Given the description of an element on the screen output the (x, y) to click on. 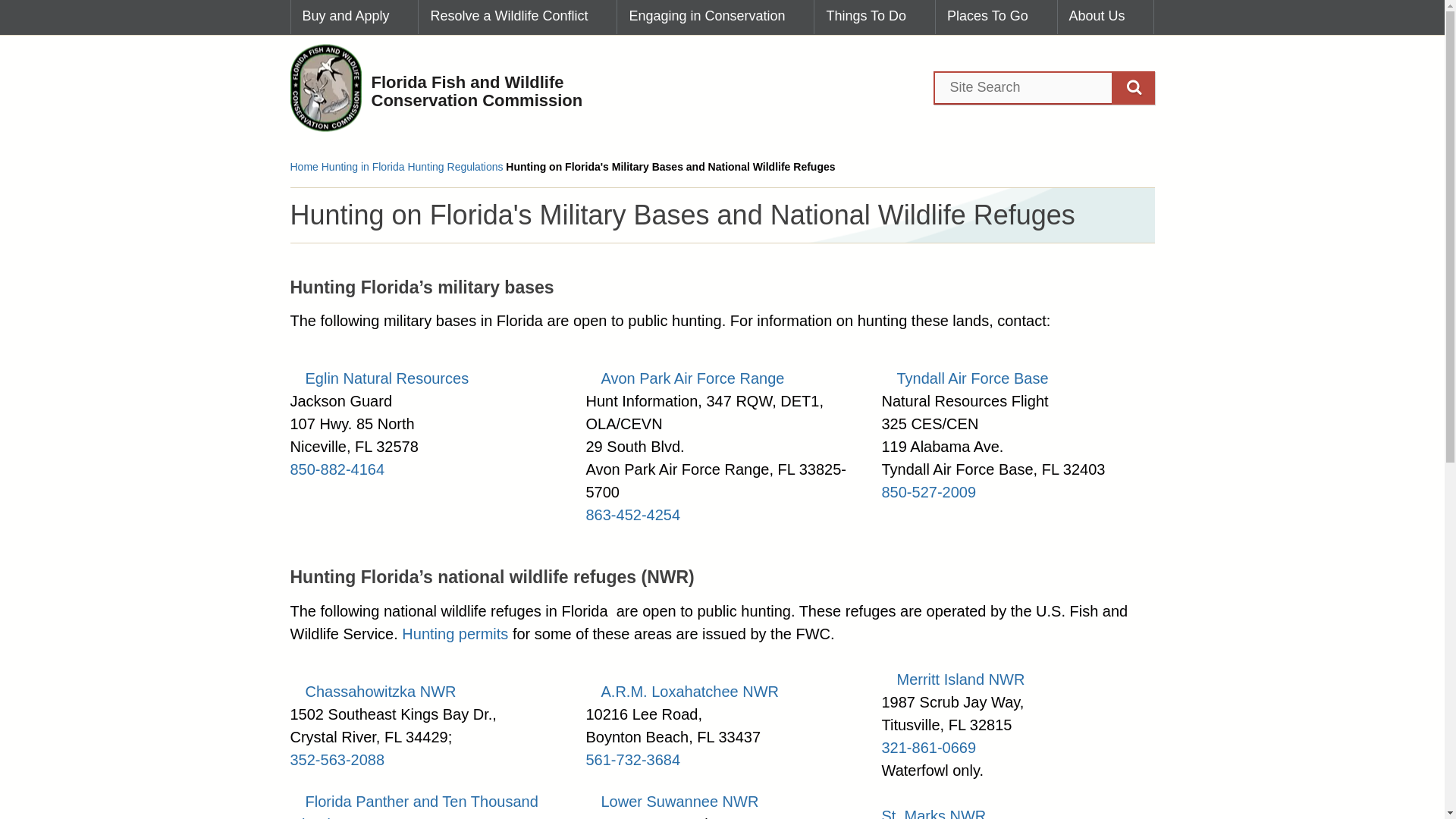
Chassahowitzka NWR (372, 691)
Avon Park hunting information (684, 378)
Merritt Island NWR (952, 678)
Eglin Air Force Base (378, 378)
Lower Suwannee NWR (671, 801)
Tyndall Air Force Base (964, 378)
NWR Hunts (454, 633)
A.R.M. Loxahatchee NWR (681, 691)
